Given the description of an element on the screen output the (x, y) to click on. 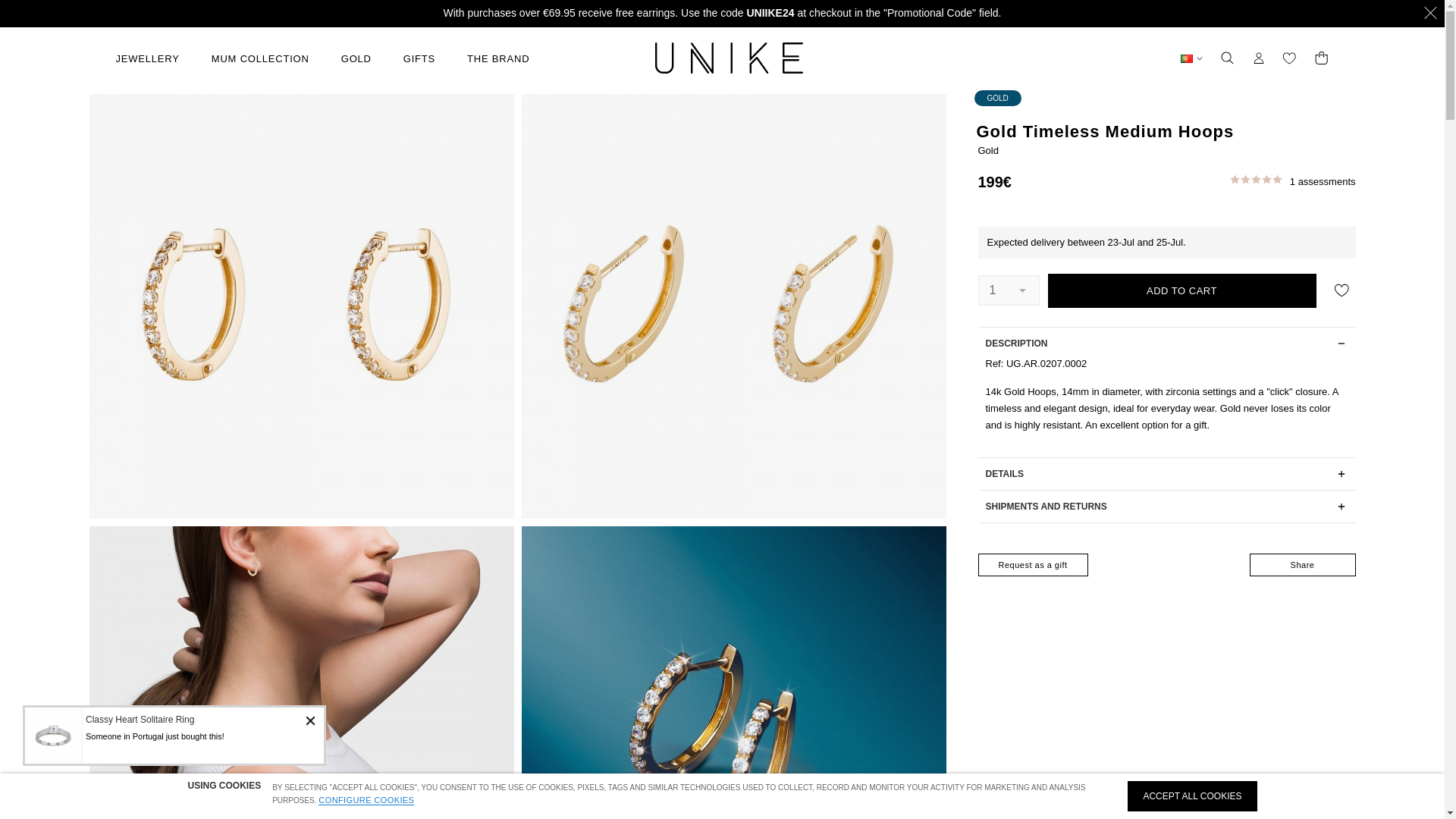
ACCEPT ALL COOKIES (1191, 796)
CONFIGURE COOKIES (365, 800)
